Given the description of an element on the screen output the (x, y) to click on. 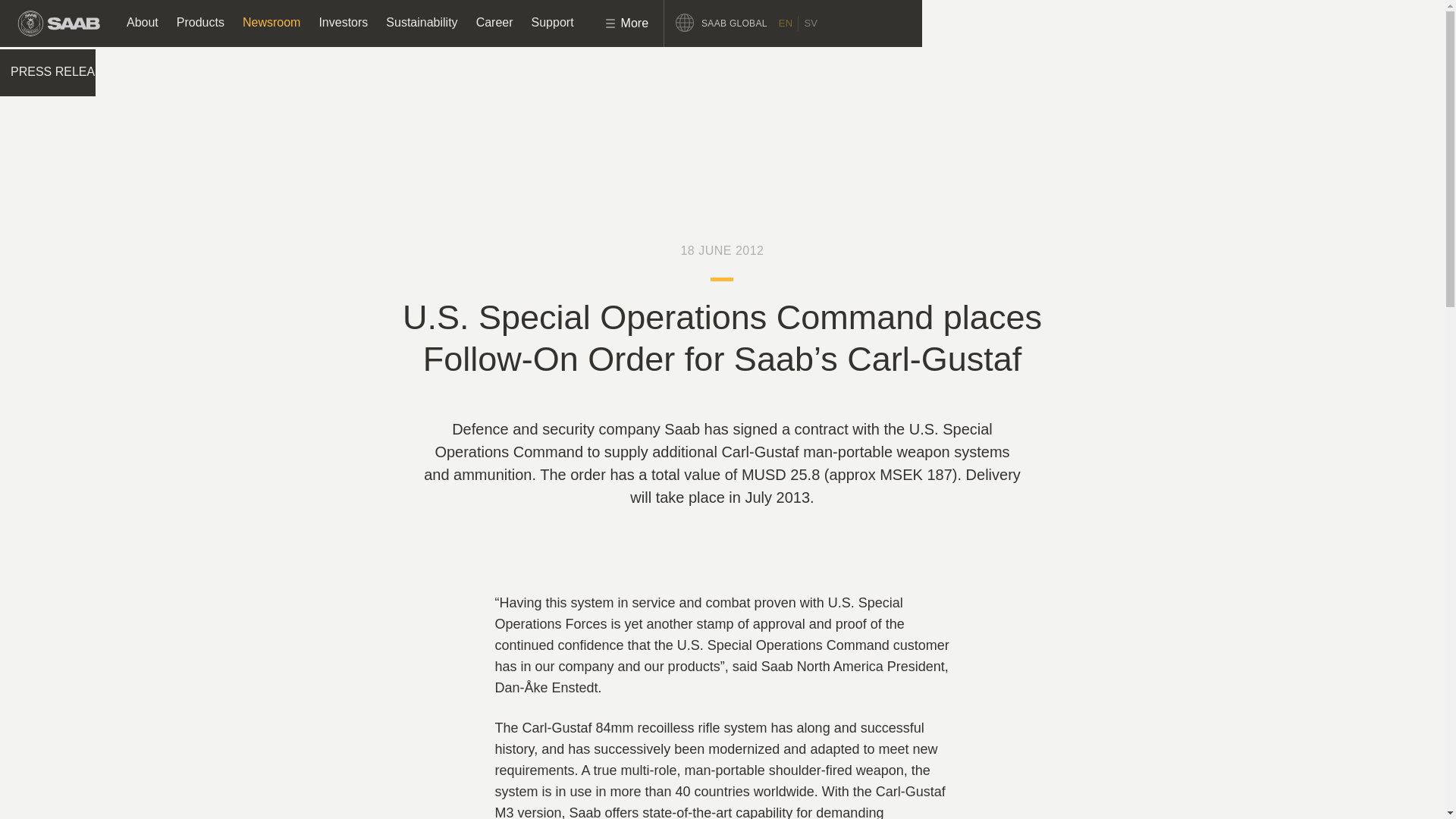
More (615, 23)
Products (199, 23)
About (142, 23)
Support (552, 23)
SAAB GLOBAL (726, 23)
Investors (342, 23)
Newsroom (270, 22)
EN (785, 22)
SV (809, 22)
Go to homepage (58, 23)
Career (494, 23)
Sustainability (421, 23)
PRESS RELEASES (67, 72)
